Given the description of an element on the screen output the (x, y) to click on. 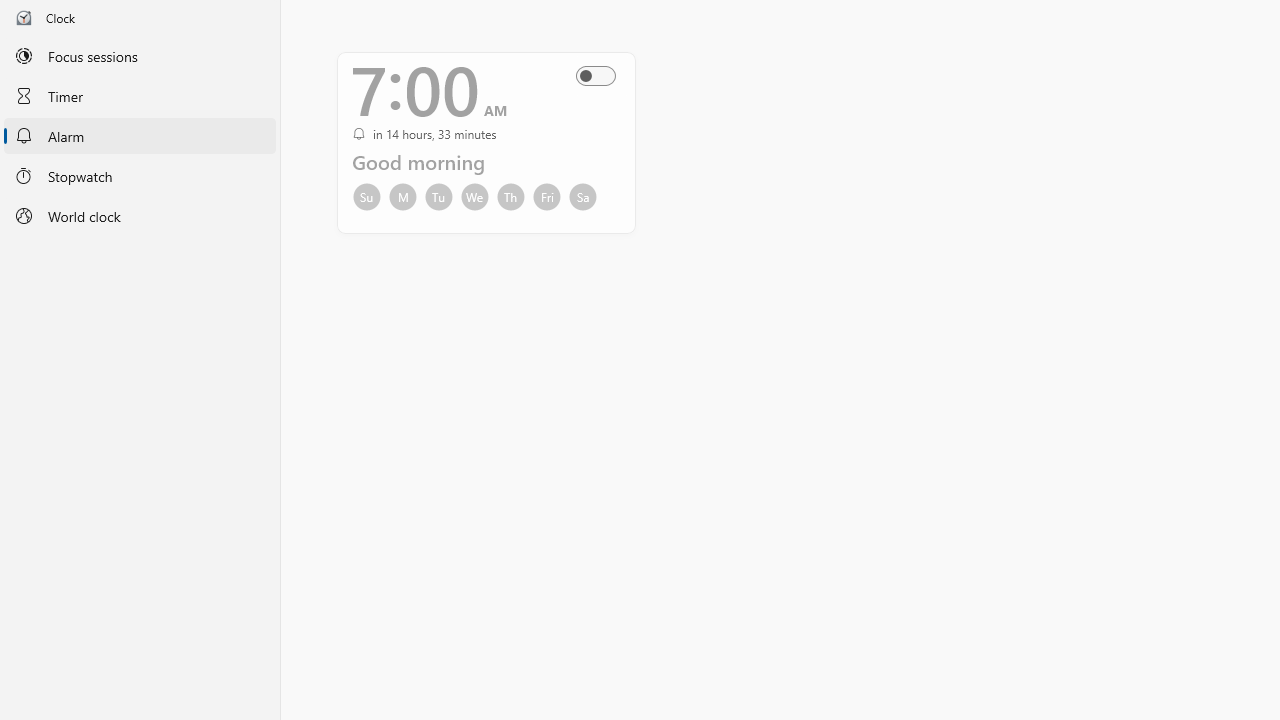
Focus sessions (139, 56)
Timer (139, 95)
World clock (139, 216)
Alarm (139, 136)
Alarm On Off (602, 75)
Stopwatch (139, 175)
